Given the description of an element on the screen output the (x, y) to click on. 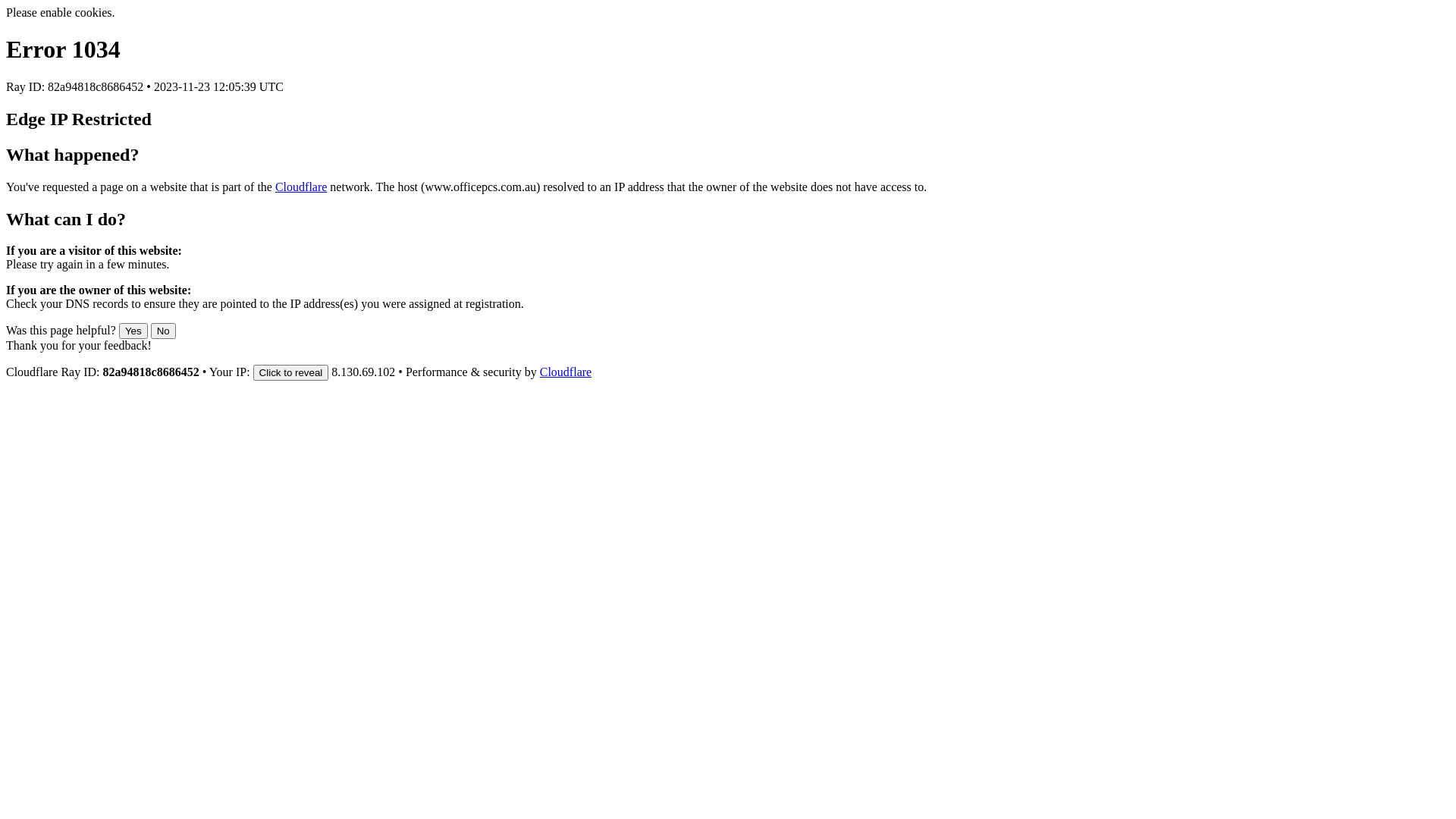
No Element type: text (162, 330)
Click to reveal Element type: text (291, 372)
Cloudflare Element type: text (565, 371)
Cloudflare Element type: text (300, 186)
Yes Element type: text (133, 330)
